Given the description of an element on the screen output the (x, y) to click on. 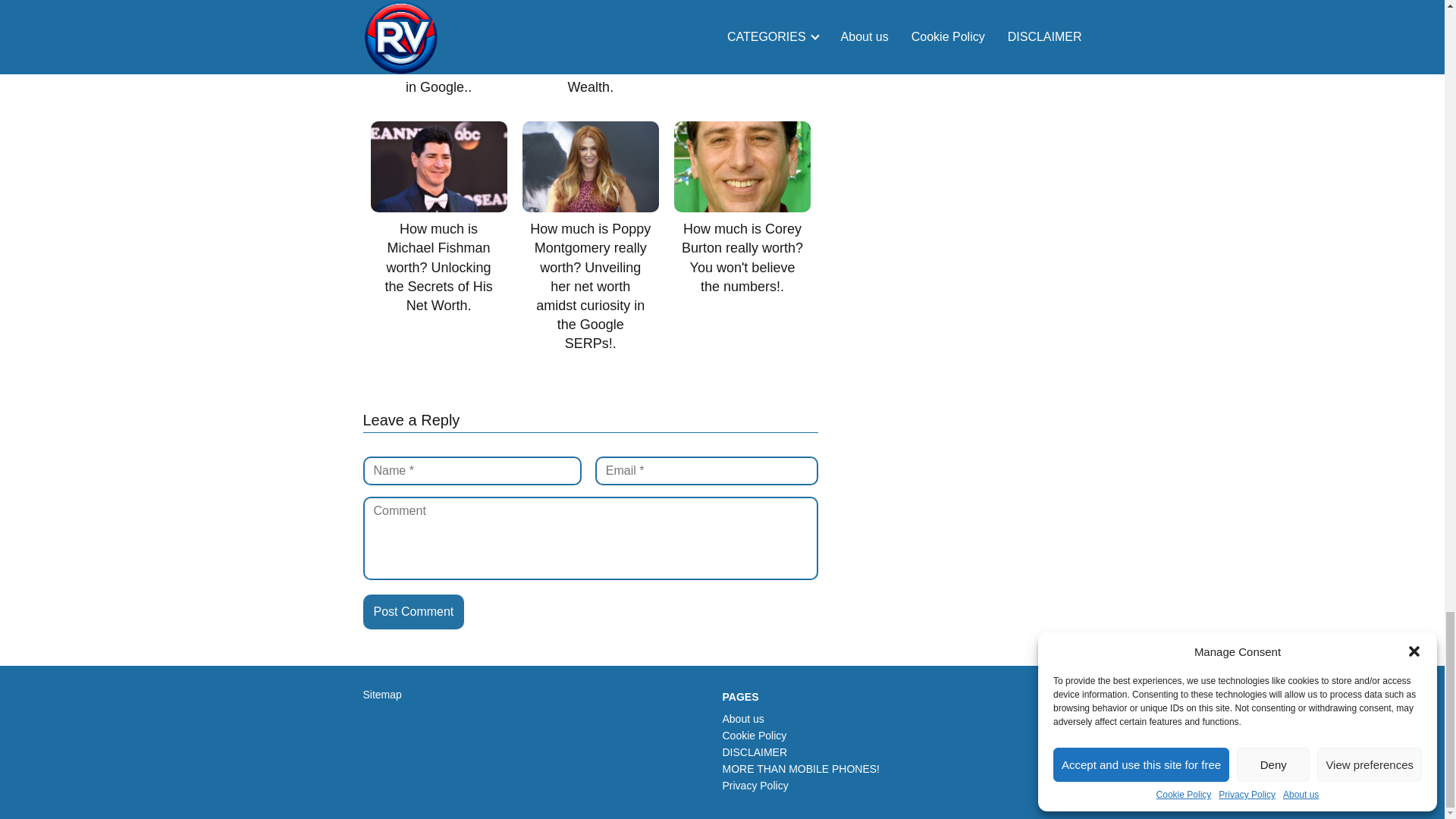
Post Comment (413, 611)
